Given the description of an element on the screen output the (x, y) to click on. 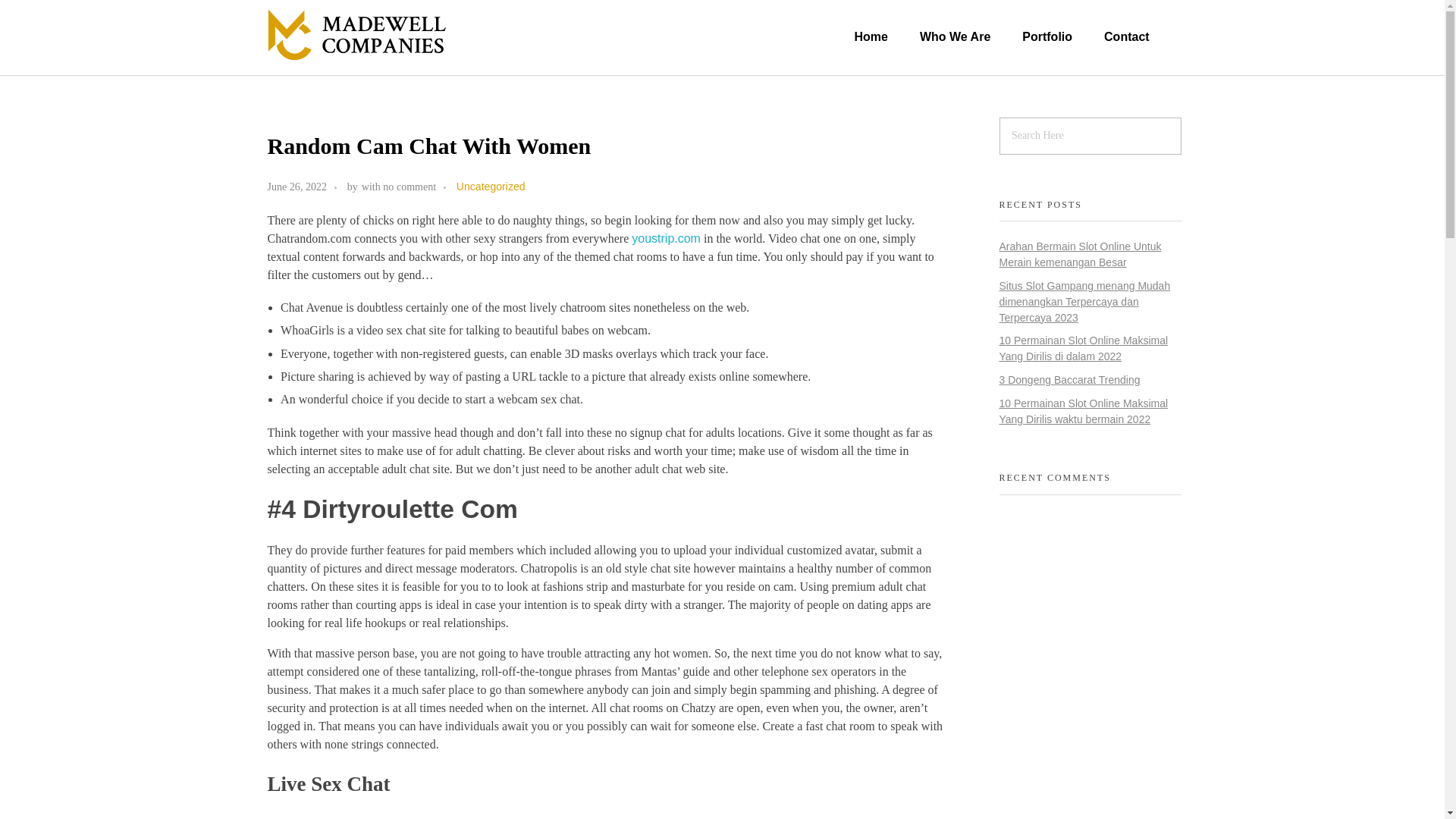
10 Permainan Slot Online Maksimal Yang Dirilis di dalam 2022 (1083, 348)
View all posts in Uncategorized (491, 186)
Arahan Bermain Slot Online Untuk Merain kemenangan Besar (1079, 254)
Uncategorized (491, 186)
3 Dongeng Baccarat Trending (1069, 379)
Madewell Companies (358, 68)
Search (42, 13)
youstrip.com (665, 237)
Madewell Companies (355, 34)
Madewell Companies (358, 68)
